Given the description of an element on the screen output the (x, y) to click on. 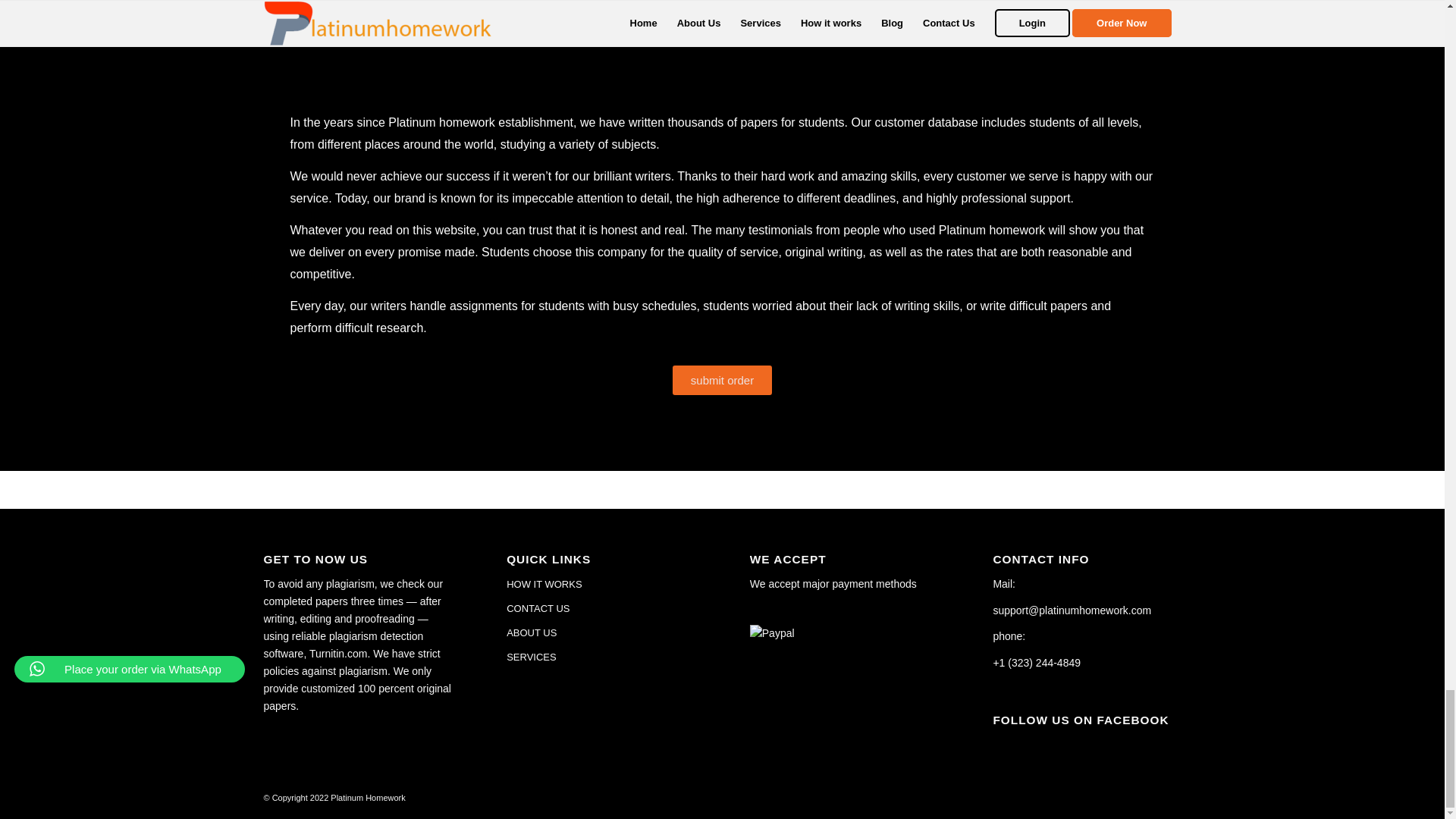
SERVICES (600, 657)
submit order (721, 379)
Assignment writing services (721, 43)
ABOUT US (600, 632)
HOW IT WORKS (600, 584)
CONTACT US (600, 608)
